Given the description of an element on the screen output the (x, y) to click on. 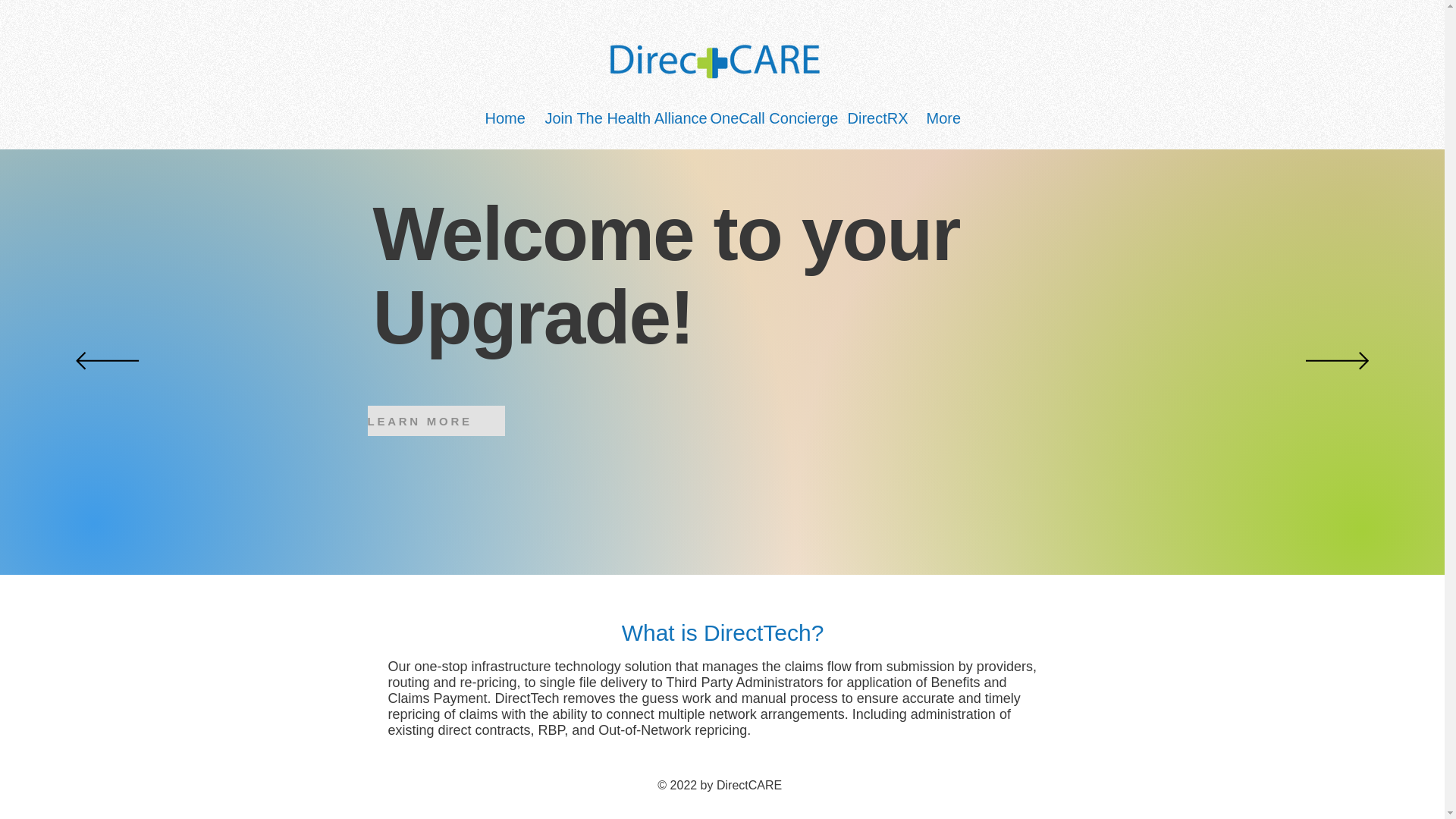
OneCall Concierge (766, 118)
LEARN MORE (434, 420)
Home (502, 118)
Join The Health Alliance (616, 118)
DirectRX (874, 118)
